Given the description of an element on the screen output the (x, y) to click on. 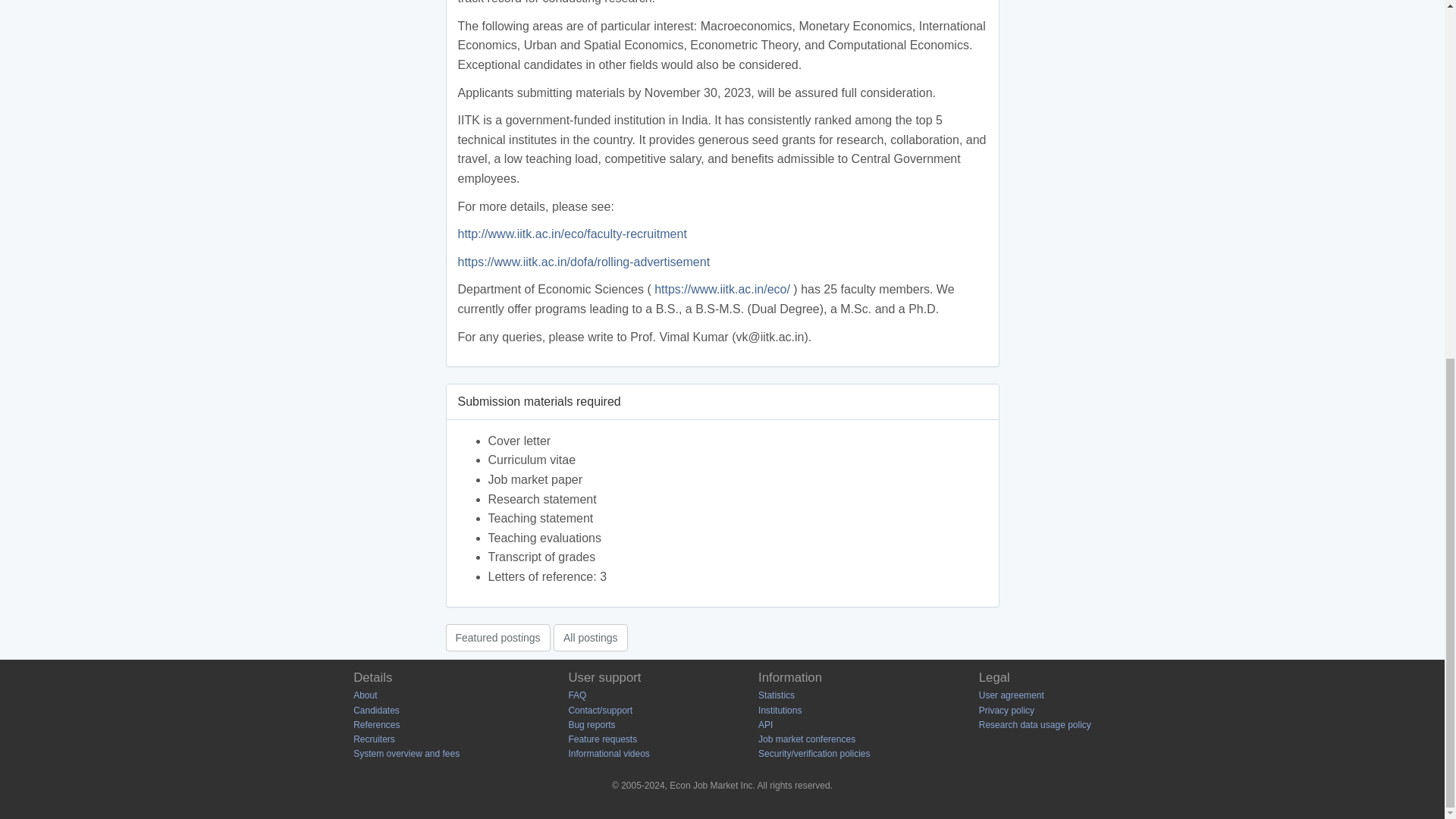
System overview and fees (406, 753)
Statistics (776, 695)
Informational videos (608, 753)
About (365, 695)
FAQ (576, 695)
Institutions (780, 710)
Feature requests (602, 738)
References (375, 724)
Candidates (375, 710)
All postings (590, 636)
Job market conferences (807, 738)
Featured postings (497, 636)
Bug reports (590, 724)
Recruiters (373, 738)
API (765, 724)
